Given the description of an element on the screen output the (x, y) to click on. 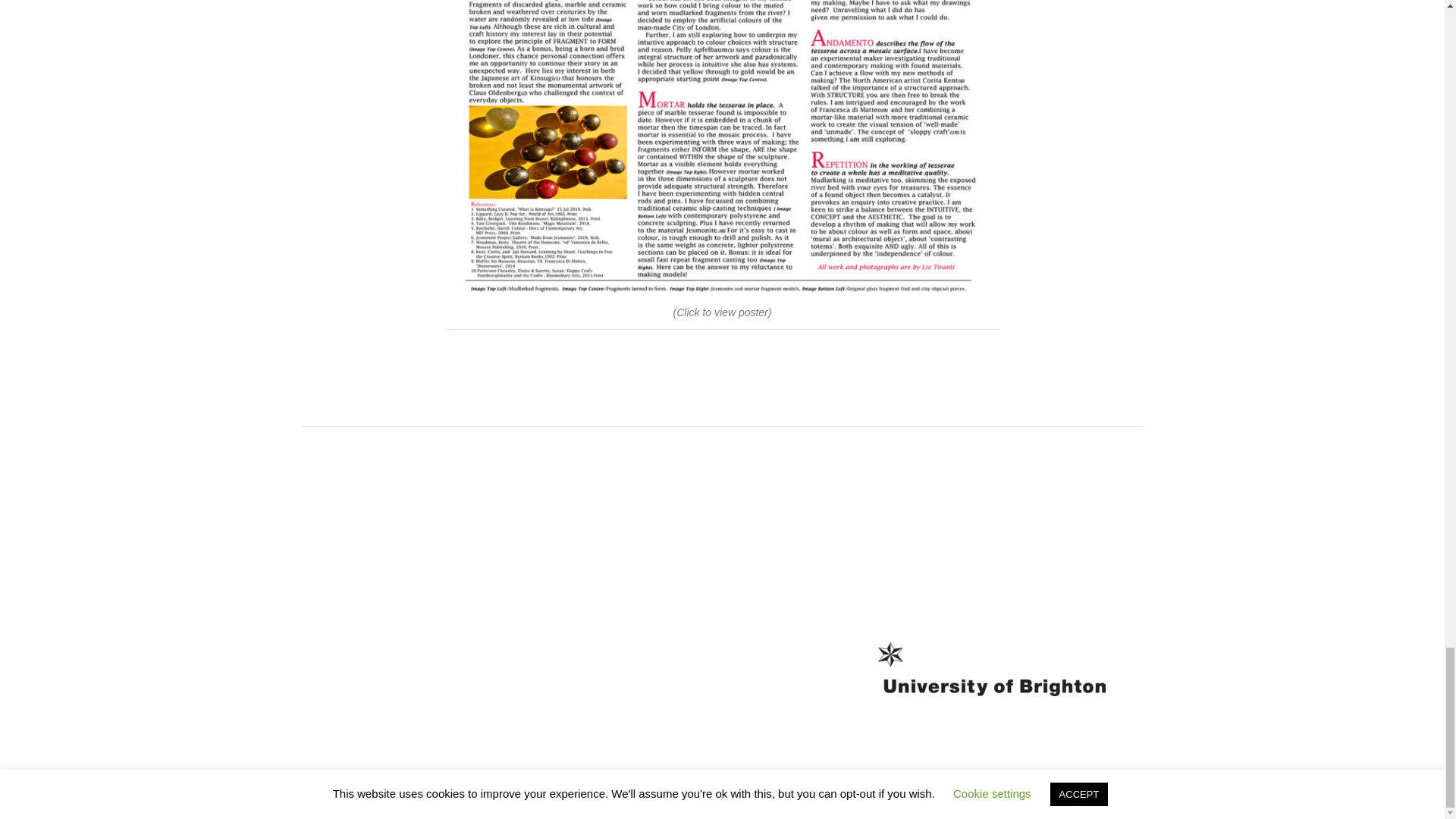
University of Brighton (437, 787)
